Given the description of an element on the screen output the (x, y) to click on. 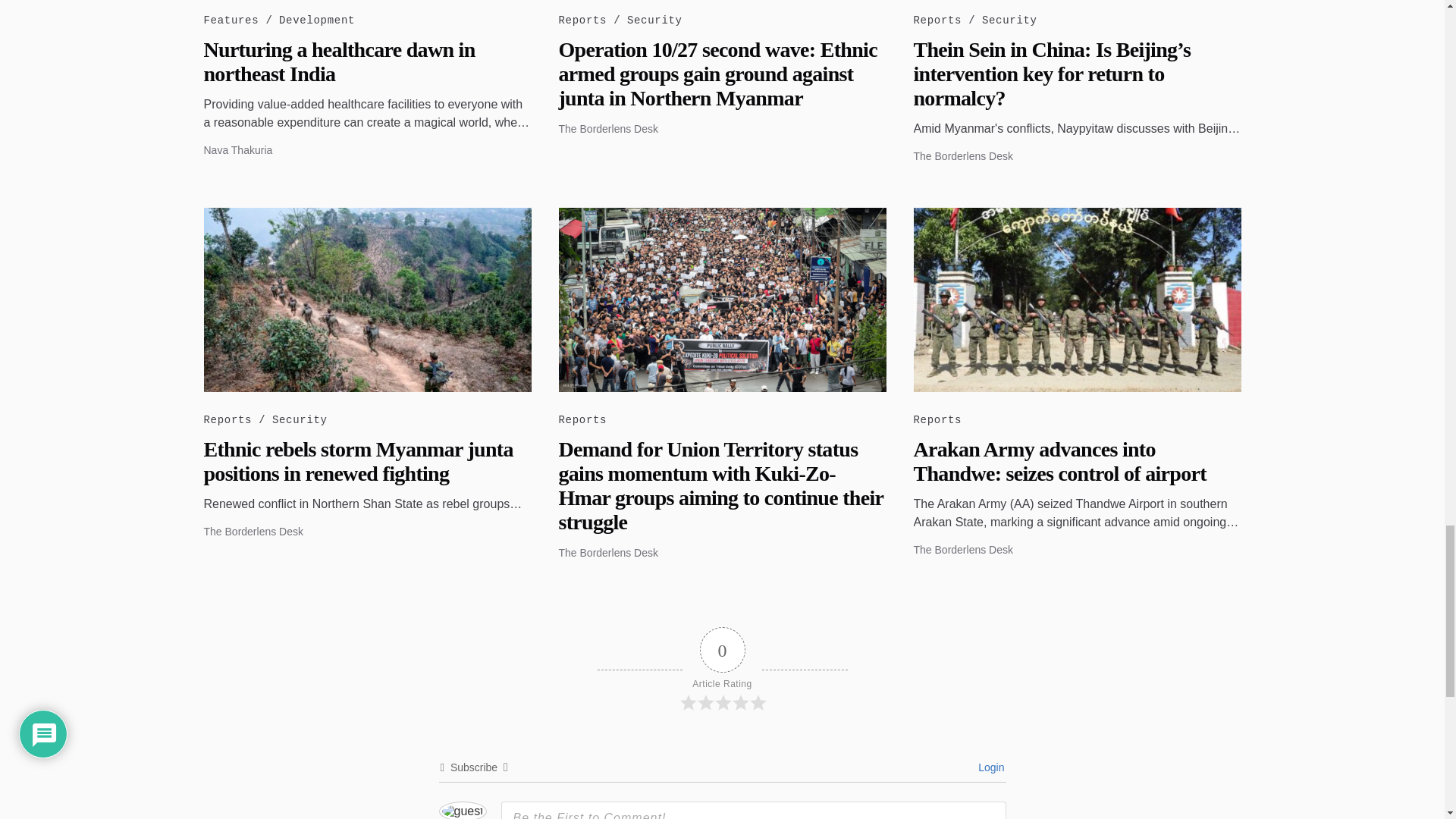
Development (318, 19)
Features (239, 19)
